Given the description of an element on the screen output the (x, y) to click on. 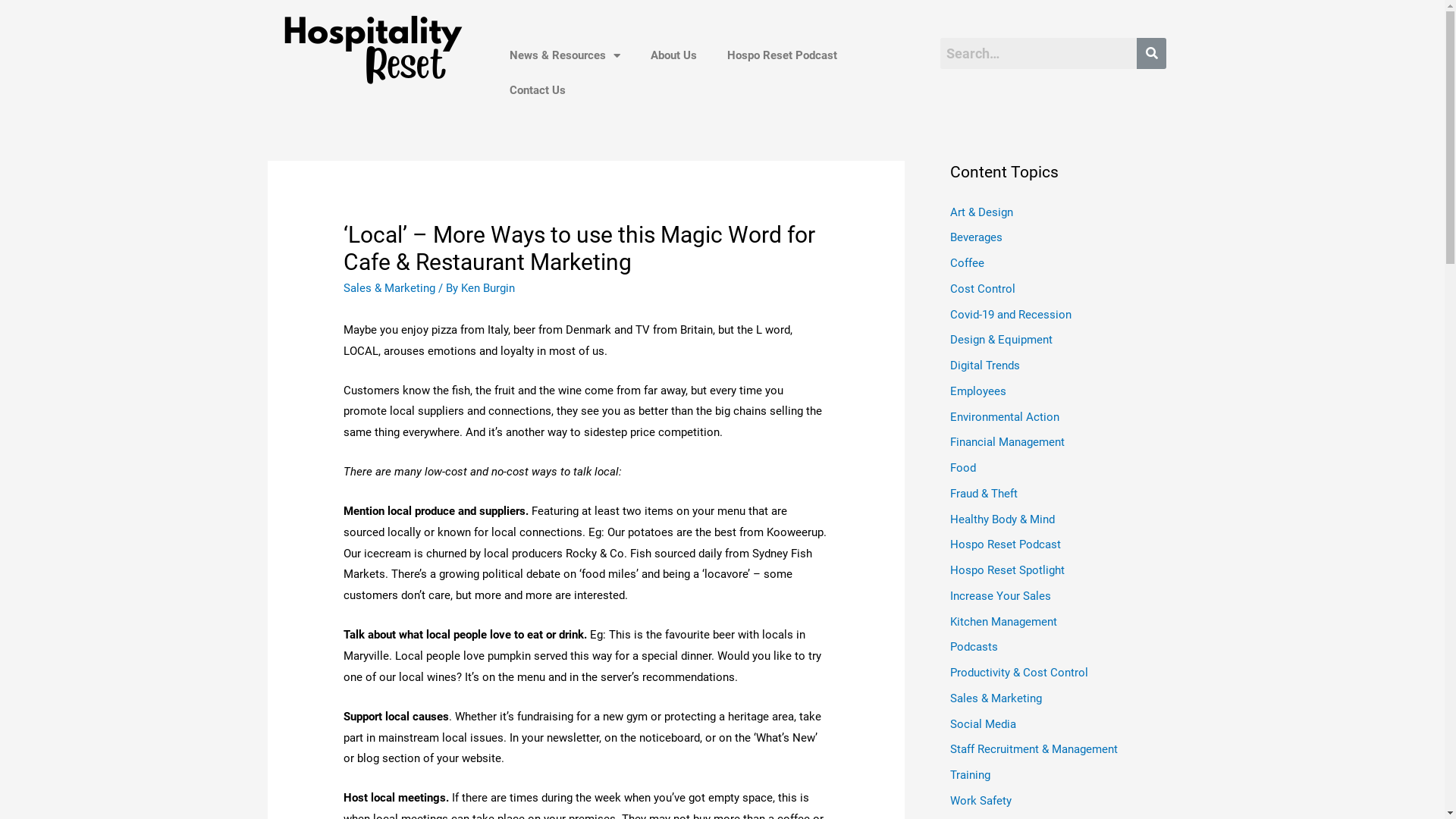
Coffee Element type: text (966, 262)
Digital Trends Element type: text (984, 365)
Employees Element type: text (977, 391)
Food Element type: text (962, 467)
Staff Recruitment & Management Element type: text (1033, 749)
Training Element type: text (969, 774)
Design & Equipment Element type: text (1000, 339)
Fraud & Theft Element type: text (982, 493)
About Us Element type: text (673, 54)
Beverages Element type: text (975, 237)
Increase Your Sales Element type: text (999, 595)
Sales & Marketing Element type: text (995, 698)
Ken Burgin Element type: text (487, 287)
Sales & Marketing Element type: text (389, 287)
Contact Us Element type: text (537, 89)
Environmental Action Element type: text (1003, 416)
Financial Management Element type: text (1006, 441)
Hospo Reset Podcast Element type: text (782, 54)
Social Media Element type: text (982, 724)
Work Safety Element type: text (979, 800)
Kitchen Management Element type: text (1002, 620)
News & Resources Element type: text (564, 54)
Art & Design Element type: text (980, 211)
Hospo Reset Spotlight Element type: text (1006, 570)
Cost Control Element type: text (981, 288)
Covid-19 and Recession Element type: text (1009, 314)
Productivity & Cost Control Element type: text (1018, 672)
Hospo Reset Podcast Element type: text (1004, 544)
Healthy Body & Mind Element type: text (1001, 519)
Search Element type: hover (1038, 53)
Podcasts Element type: text (973, 646)
